Given the description of an element on the screen output the (x, y) to click on. 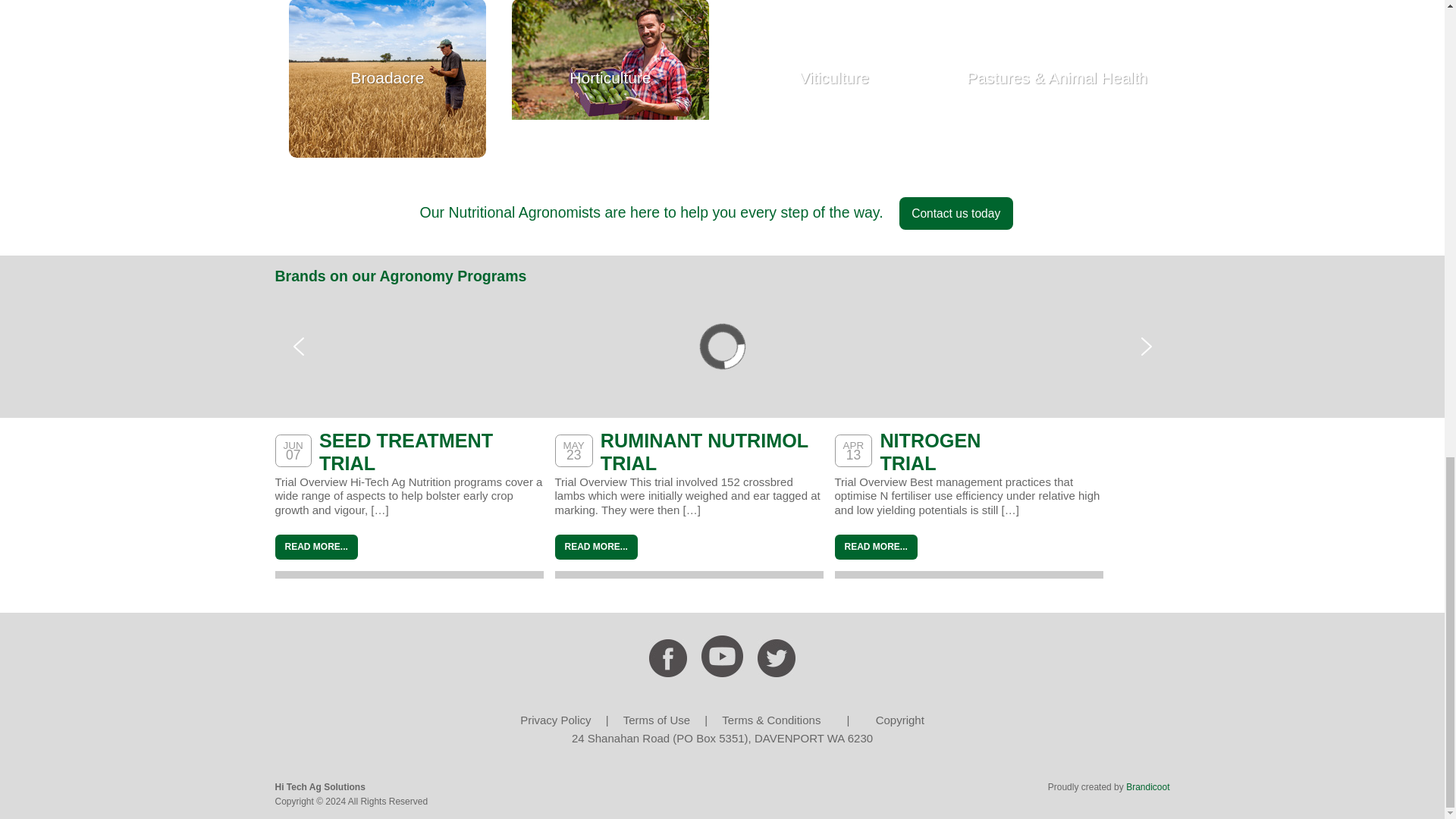
NITROGEN TRIAL (929, 451)
READ MORE... (595, 546)
Horticulture (610, 79)
READ MORE... (315, 546)
Broadacre (387, 79)
Viticulture (834, 79)
SEED TREATMENT TRIAL (405, 451)
RUMINANT NUTRIMOL TRIAL (703, 451)
Contact us today (956, 213)
